Given the description of an element on the screen output the (x, y) to click on. 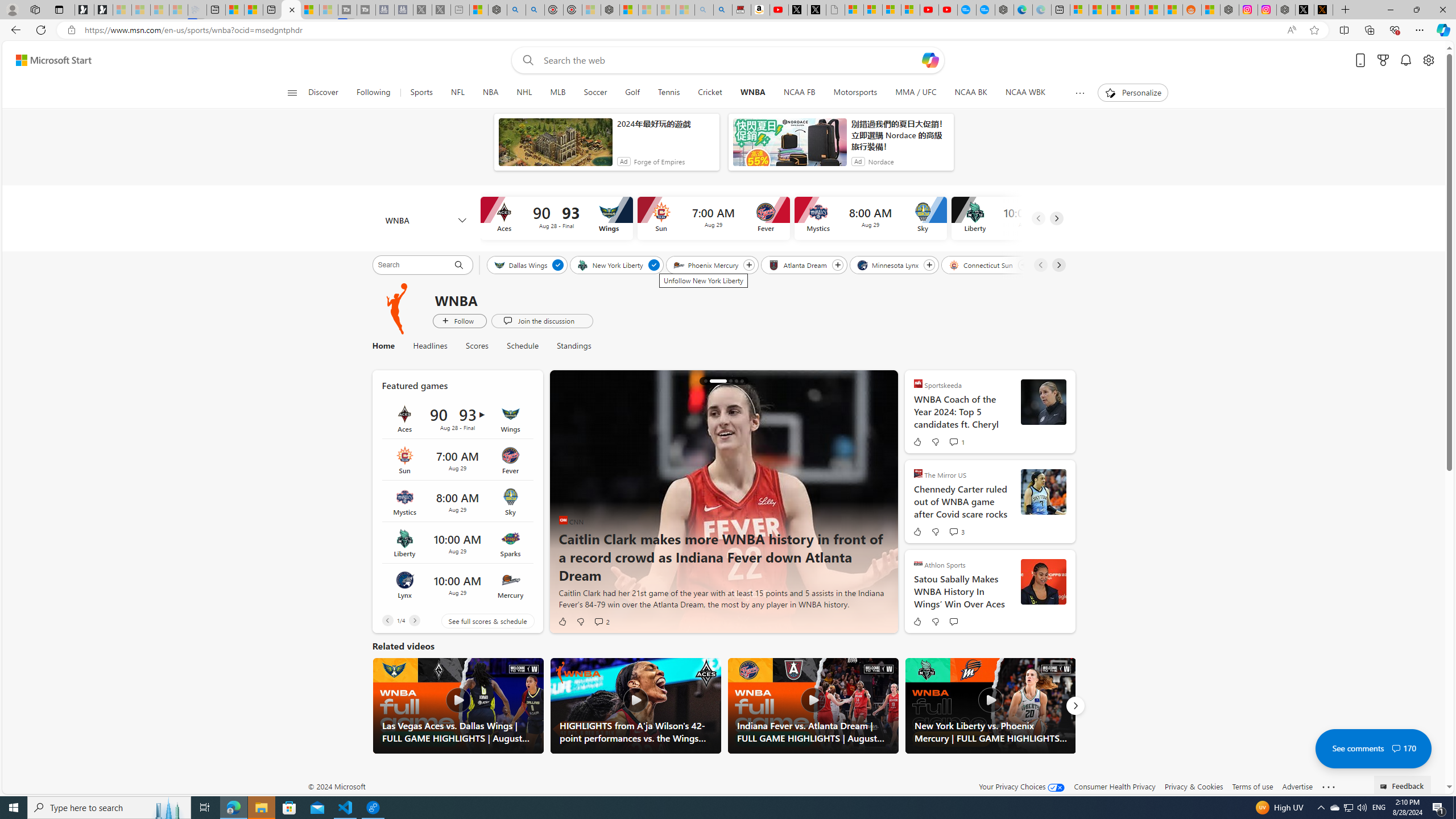
Join the discussion (541, 320)
Follow Minnesota Lynx (929, 265)
NHL (523, 92)
Class: cwt-icon-vector (1395, 748)
NCAA FB (799, 92)
Dallas Wings (521, 264)
View comments 2 Comment (598, 621)
poe ++ standard - Search (534, 9)
Dislike (935, 621)
Schedule (522, 345)
